Given the description of an element on the screen output the (x, y) to click on. 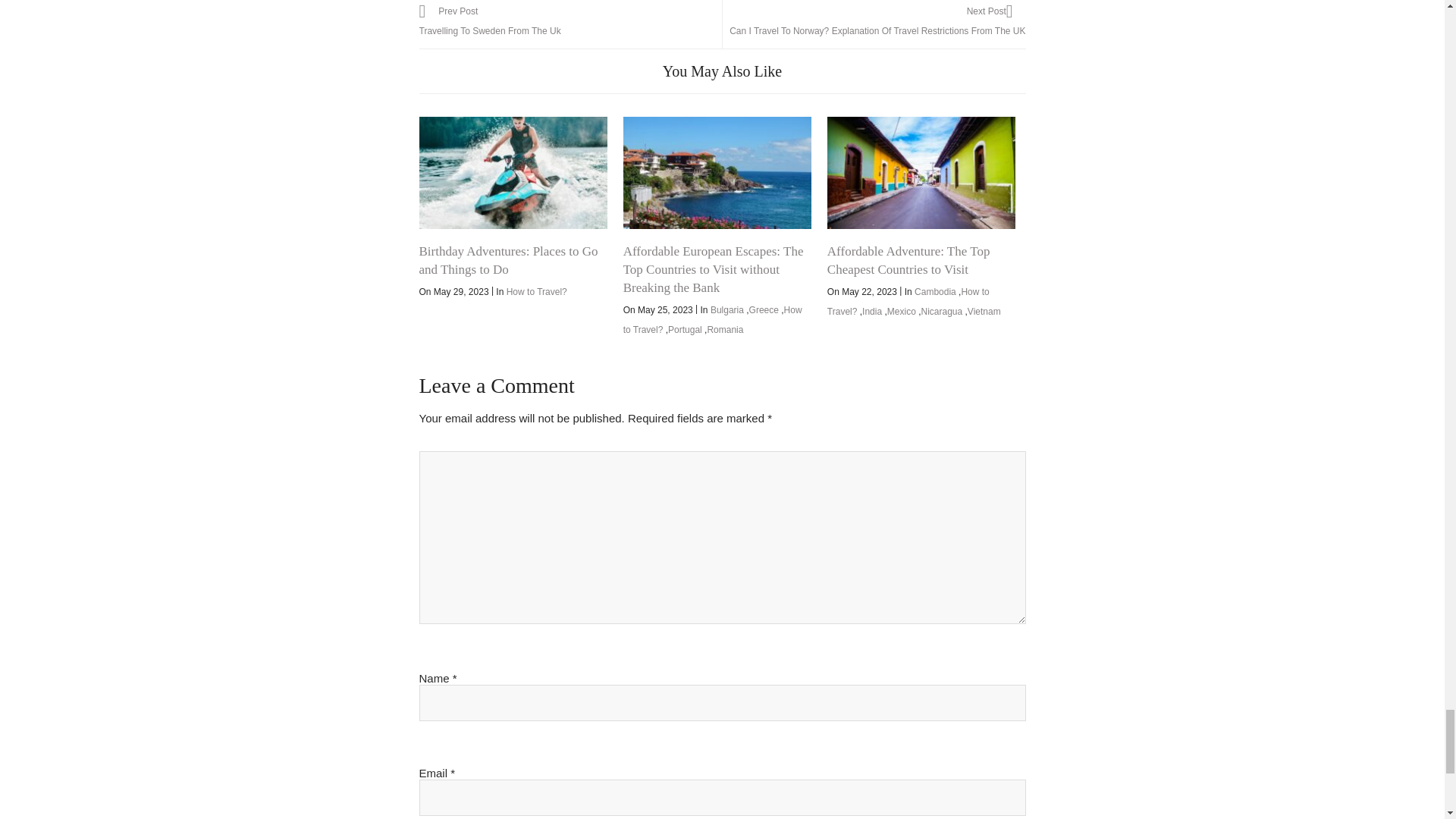
Birthday Adventures: Places to Go and Things to Do (513, 173)
Nicaragua (941, 311)
Vietnam (984, 311)
Greece (763, 309)
India (871, 311)
Mexico (900, 311)
How to Travel? (908, 301)
How to Travel? (712, 319)
Affordable Adventure: The Top Cheapest Countries to Visit (920, 173)
Cambodia (935, 291)
Bulgaria (727, 309)
